Given the description of an element on the screen output the (x, y) to click on. 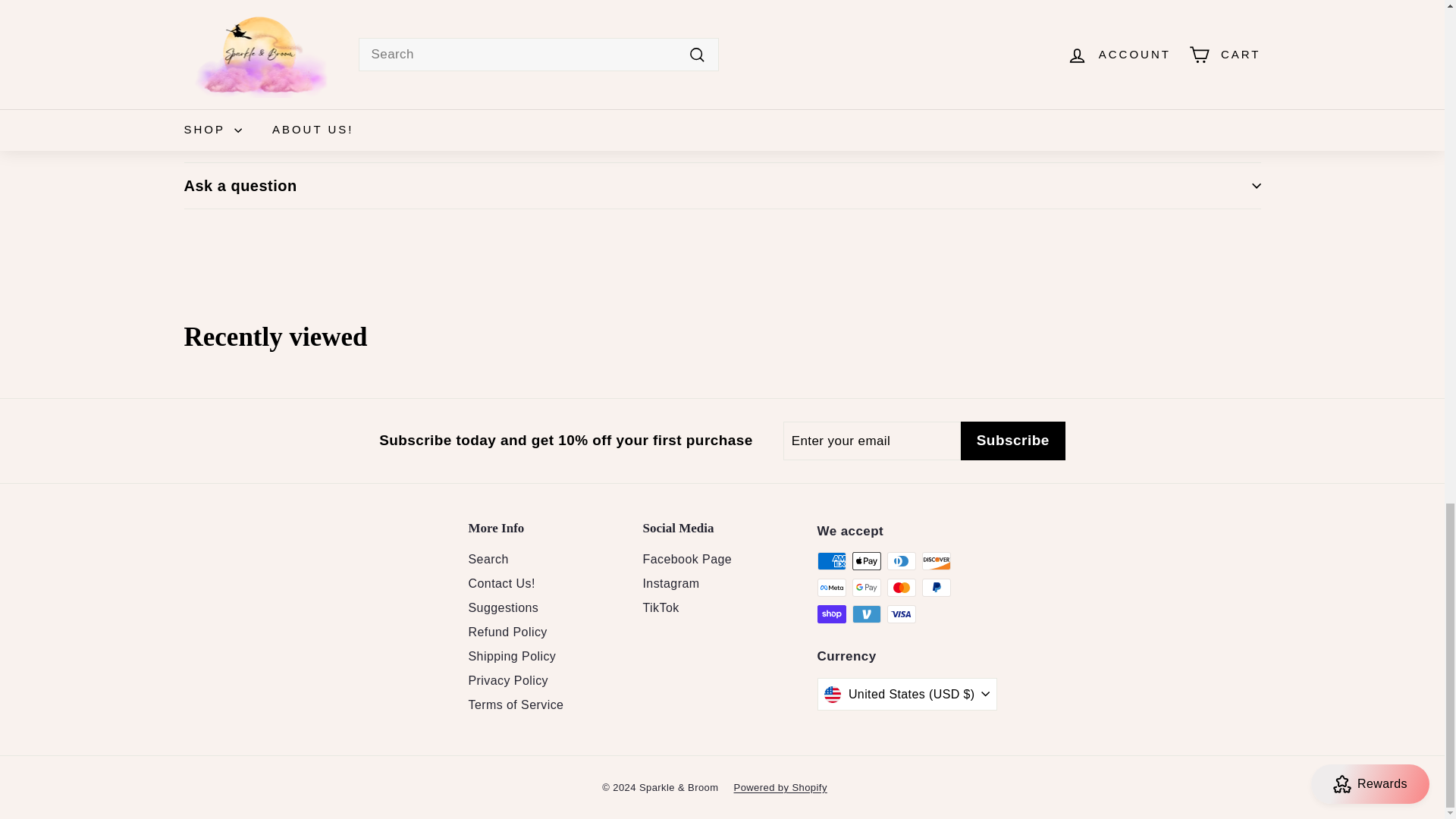
Meta Pay (830, 587)
Diners Club (900, 561)
Mastercard (900, 587)
American Express (830, 561)
Google Pay (865, 587)
Apple Pay (865, 561)
Discover (935, 561)
